Given the description of an element on the screen output the (x, y) to click on. 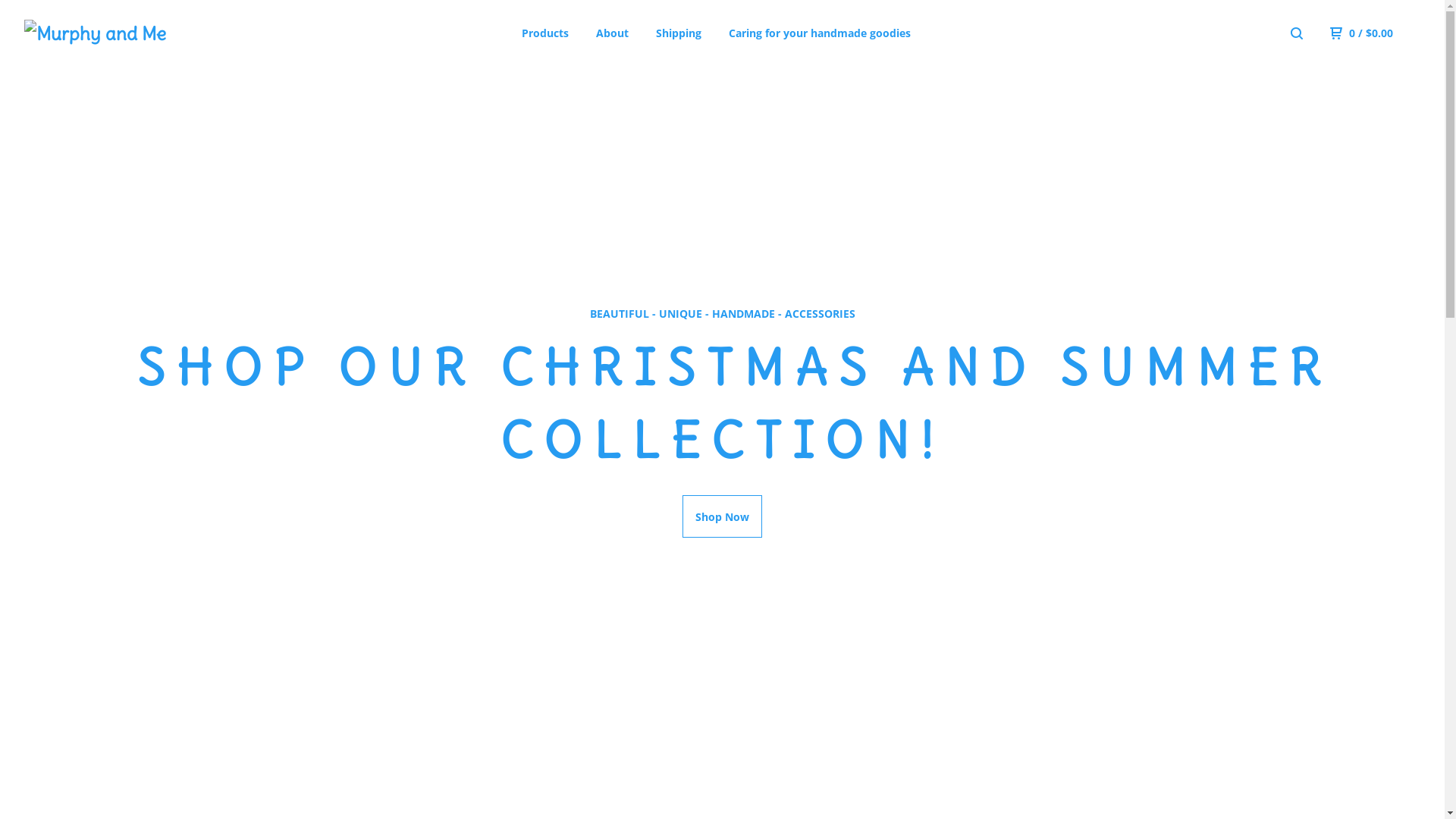
Products Element type: text (544, 32)
Shop Now Element type: text (722, 516)
Shipping Element type: text (678, 32)
Caring for your handmade goodies Element type: text (819, 32)
0 / $0.00 Element type: text (1361, 32)
About Element type: text (612, 32)
Murphy and Me Element type: hover (103, 33)
